Given the description of an element on the screen output the (x, y) to click on. 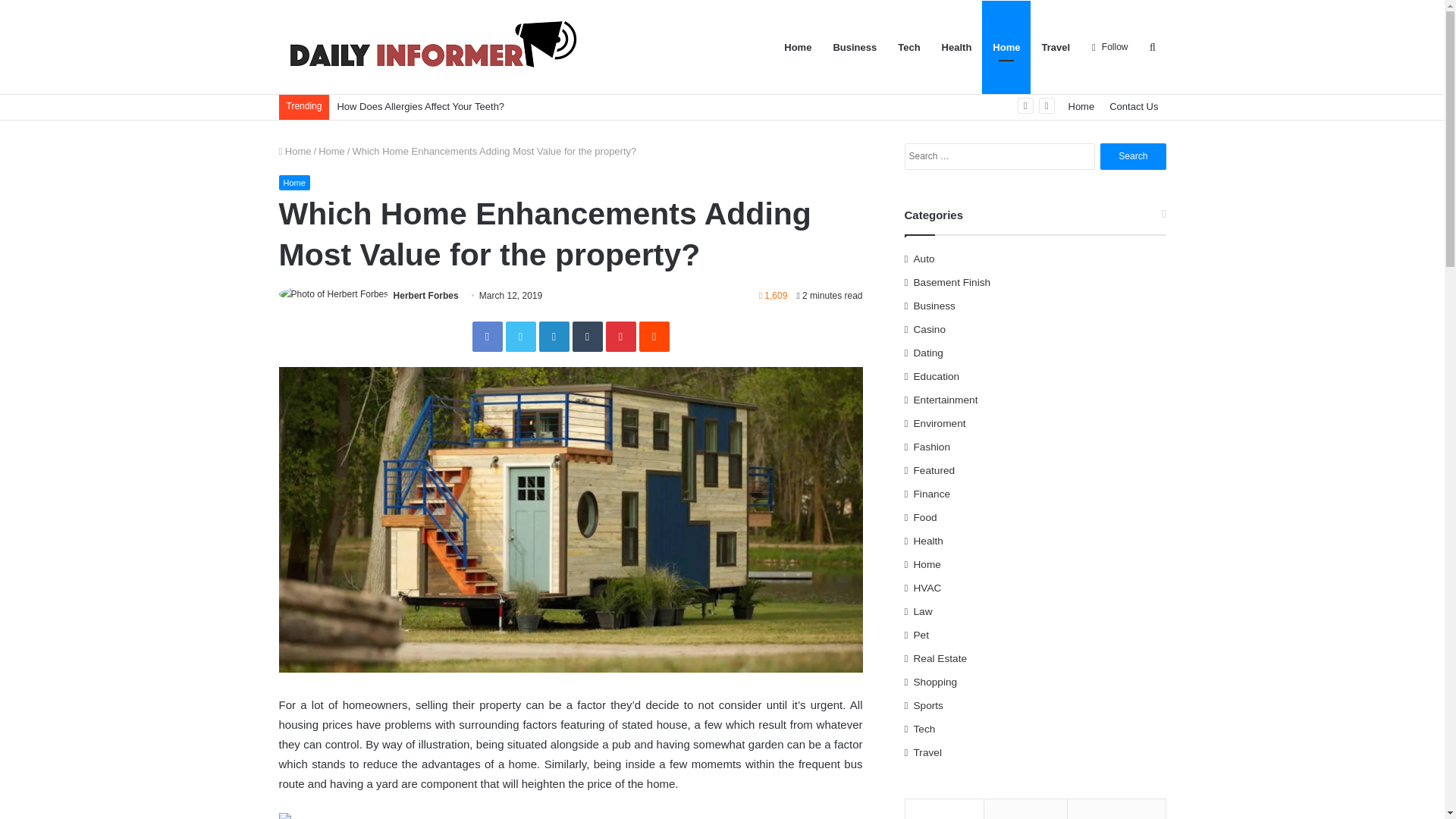
Search (1133, 156)
Search (1133, 156)
Twitter (520, 336)
Tumblr (587, 336)
Home (331, 151)
Contact Us (1134, 106)
daily informer (430, 46)
Herbert Forbes (425, 295)
How Does Allergies Affect Your Teeth?  (421, 106)
Herbert Forbes (425, 295)
Home (294, 182)
Home (295, 151)
Reddit (653, 336)
Pinterest (619, 336)
LinkedIn (553, 336)
